Given the description of an element on the screen output the (x, y) to click on. 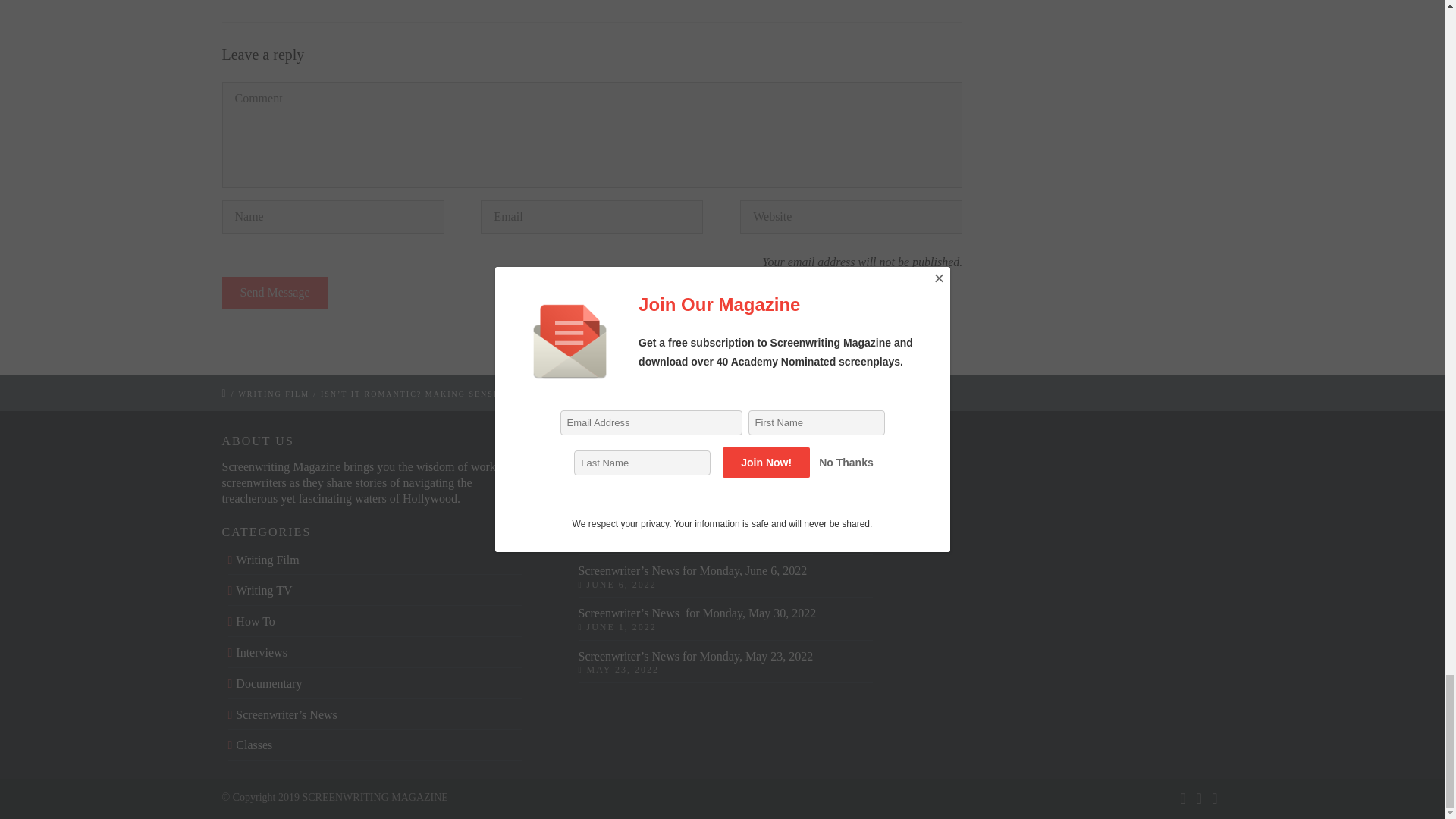
Send Message (274, 292)
